Given the description of an element on the screen output the (x, y) to click on. 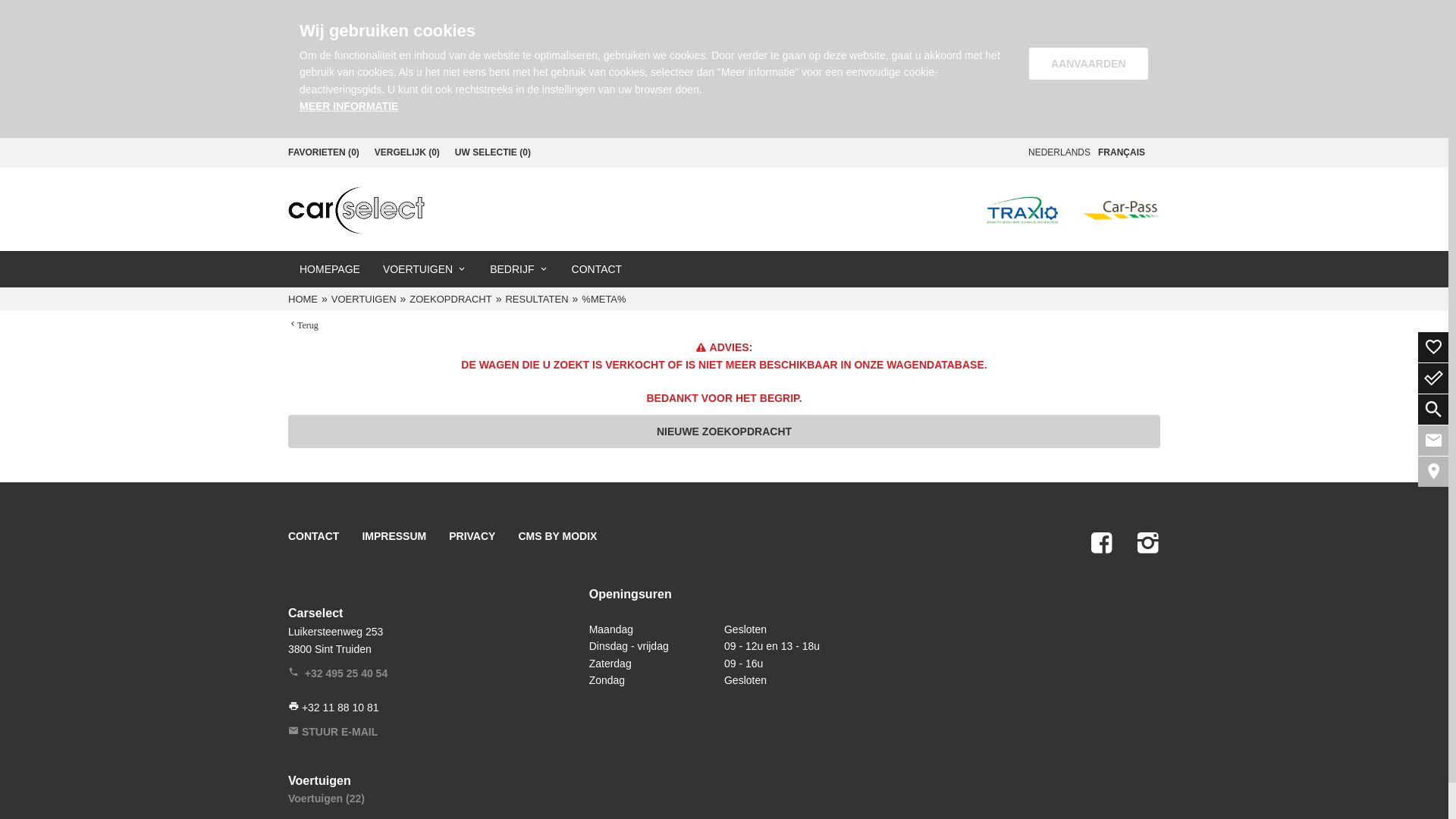
VERGELIJK (0) Element type: text (407, 152)
Naar onze Facebook-pagina Element type: hover (1100, 542)
 Terug Element type: text (303, 323)
BEDRIJF Element type: text (518, 269)
%META% Element type: text (605, 298)
CONTACT Element type: text (596, 269)
VOERTUIGEN Element type: text (424, 269)
UW SELECTIE (0) Element type: text (492, 152)
ZOEKOPDRACHT Element type: text (452, 298)
HOMEPAGE Element type: text (329, 269)
CMS BY MODIX Element type: text (556, 536)
MEER INFORMATIE Element type: text (348, 106)
IMPRESSUM Element type: text (393, 535)
STUUR E-MAIL Element type: text (332, 731)
NIEUWE ZOEKOPDRACHT Element type: text (724, 431)
Car-Pass Element type: hover (1121, 208)
AANVAARDEN Element type: text (1088, 63)
CONTACT Element type: text (313, 535)
VOERTUIGEN Element type: text (365, 298)
Traxio Element type: hover (1022, 208)
Voertuigen (22) Element type: text (326, 798)
FAVORIETEN (0) Element type: text (323, 152)
 +32 495 25 40 54 Element type: text (337, 673)
PRIVACY Element type: text (471, 535)
RESULTATEN Element type: text (538, 298)
Weitere Informationen Element type: hover (356, 209)
HOME Element type: text (304, 298)
Instragram Element type: hover (1147, 542)
